Given the description of an element on the screen output the (x, y) to click on. 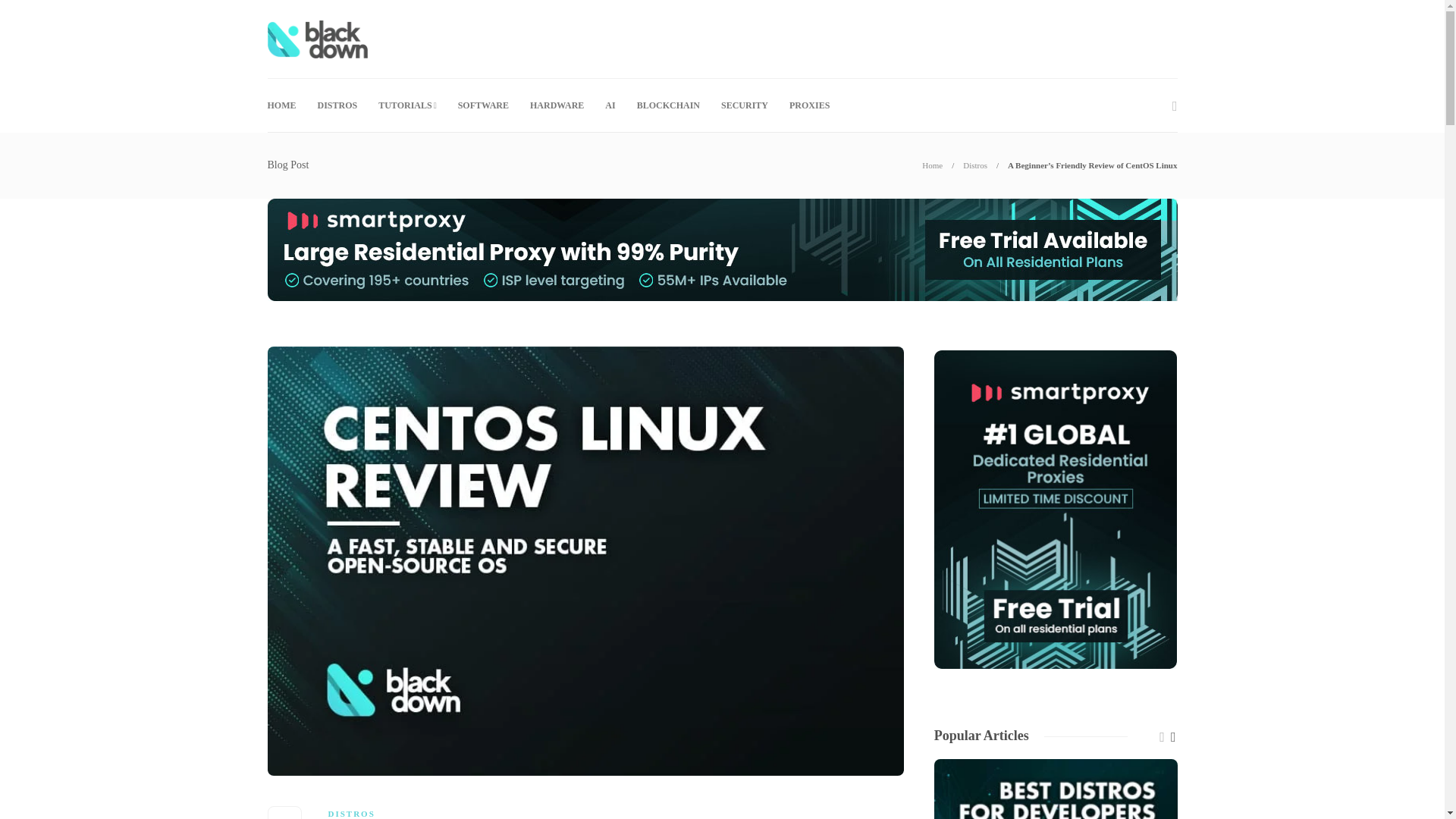
DISTROS (350, 813)
TUTORIALS (406, 104)
BLOCKCHAIN (668, 104)
Distros (974, 164)
HARDWARE (556, 104)
Home (931, 164)
SOFTWARE (483, 104)
Home (931, 164)
